Given the description of an element on the screen output the (x, y) to click on. 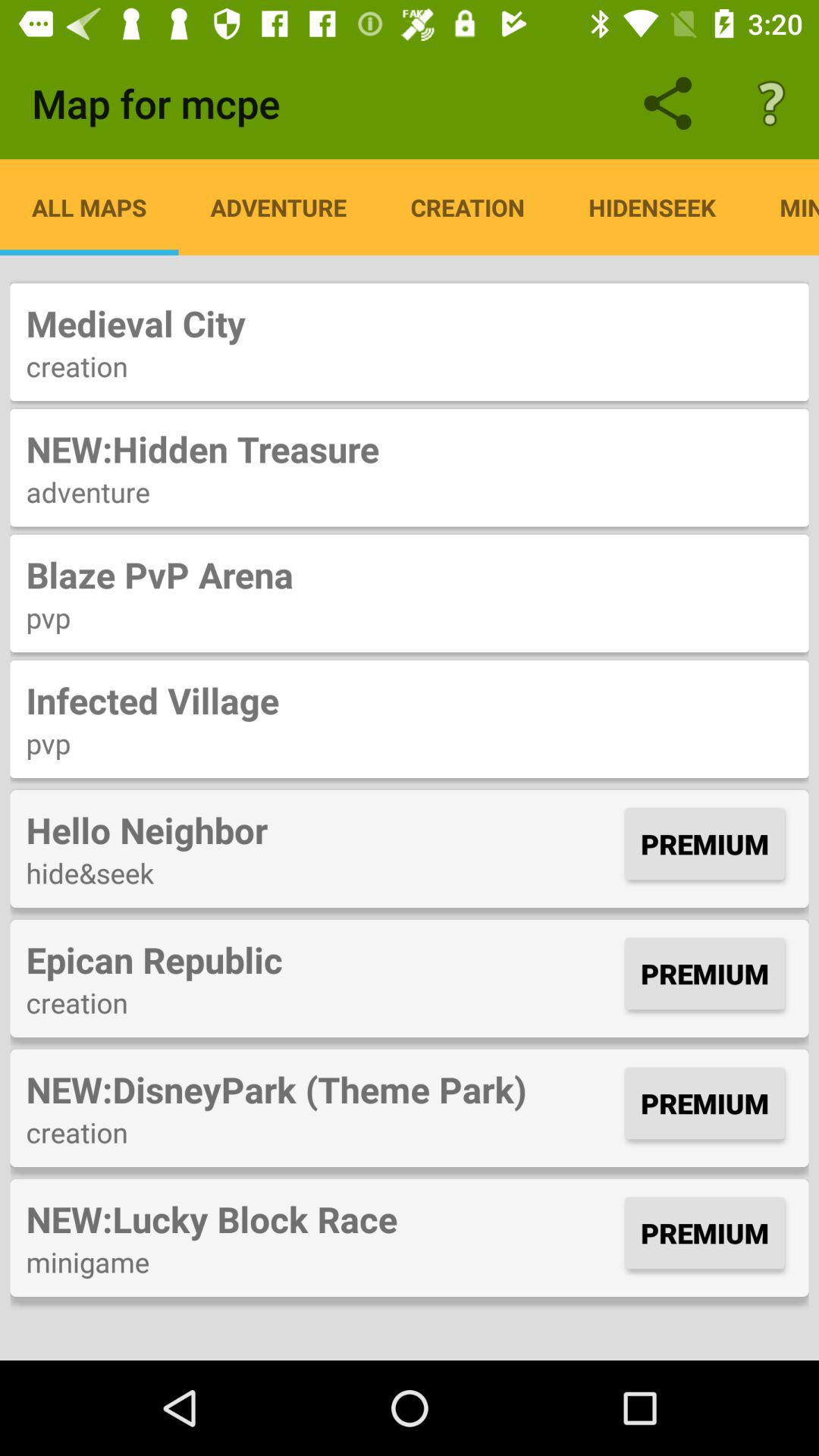
swipe until all maps icon (89, 207)
